Given the description of an element on the screen output the (x, y) to click on. 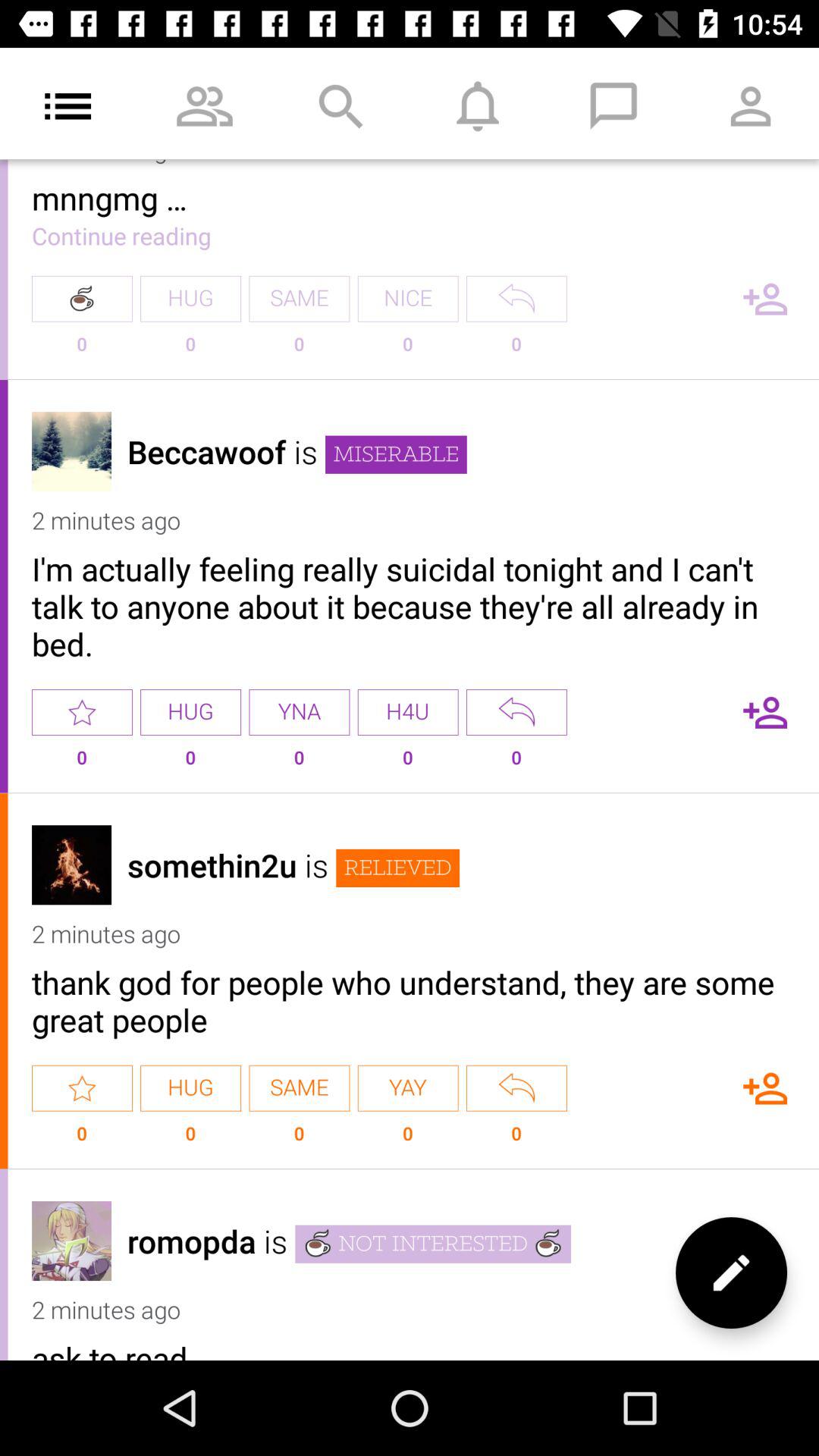
create new post (731, 1272)
